Given the description of an element on the screen output the (x, y) to click on. 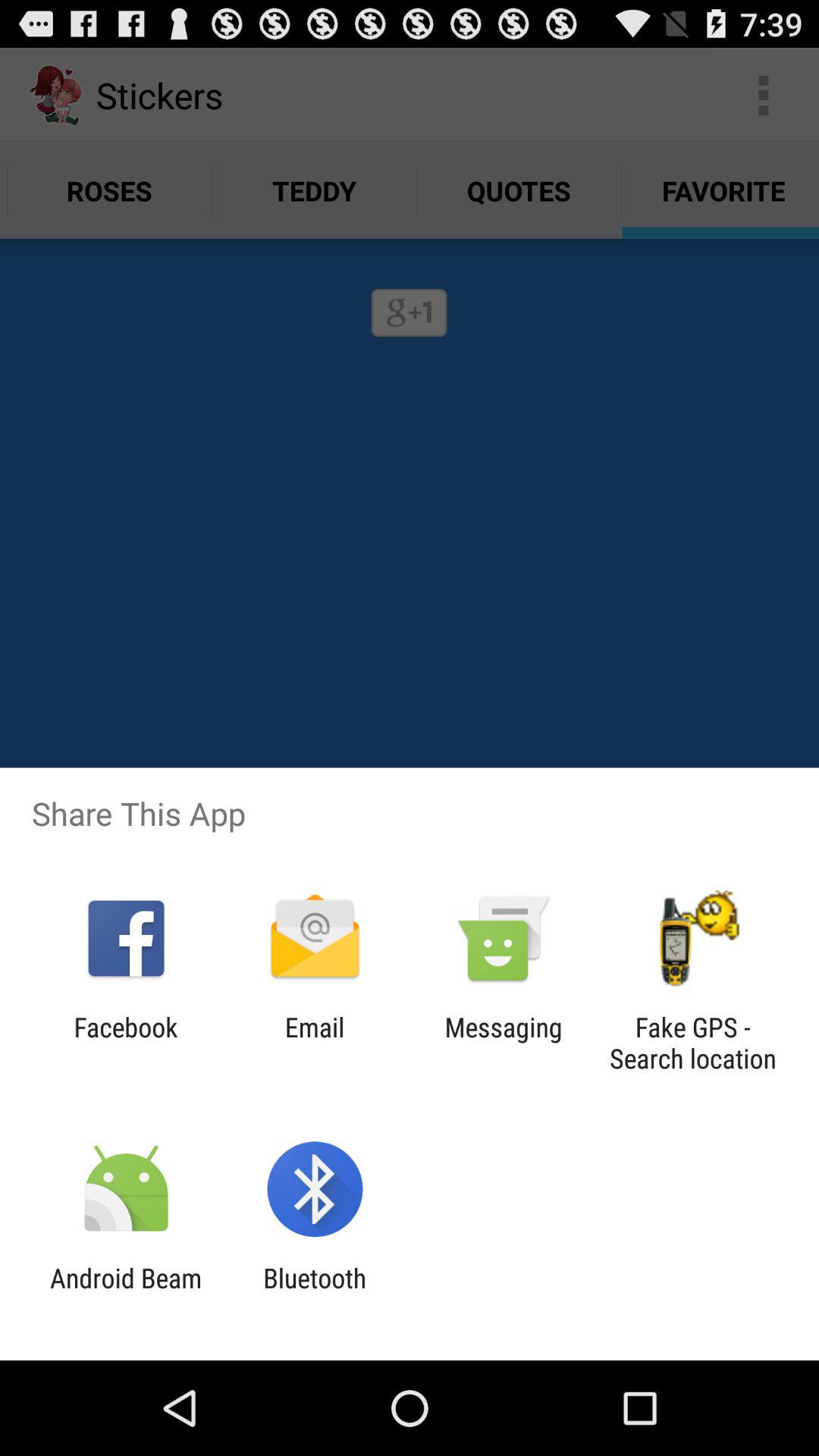
scroll until the bluetooth icon (314, 1293)
